Given the description of an element on the screen output the (x, y) to click on. 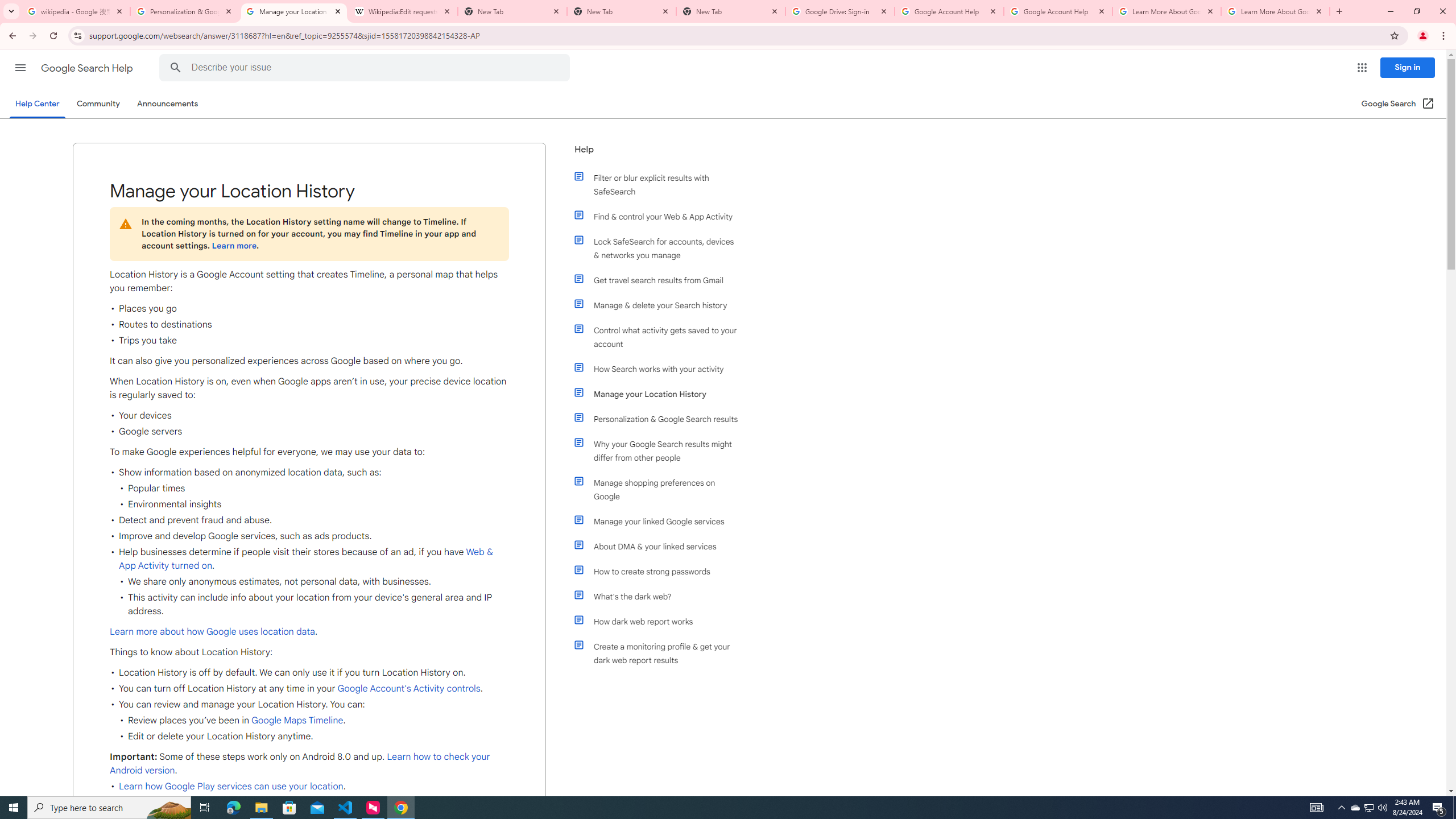
Manage shopping preferences on Google (661, 489)
Search Help Center (175, 67)
About DMA & your linked services (661, 546)
How Search works with your activity (661, 368)
Google Account Help (1058, 11)
How to create strong passwords (661, 571)
